Given the description of an element on the screen output the (x, y) to click on. 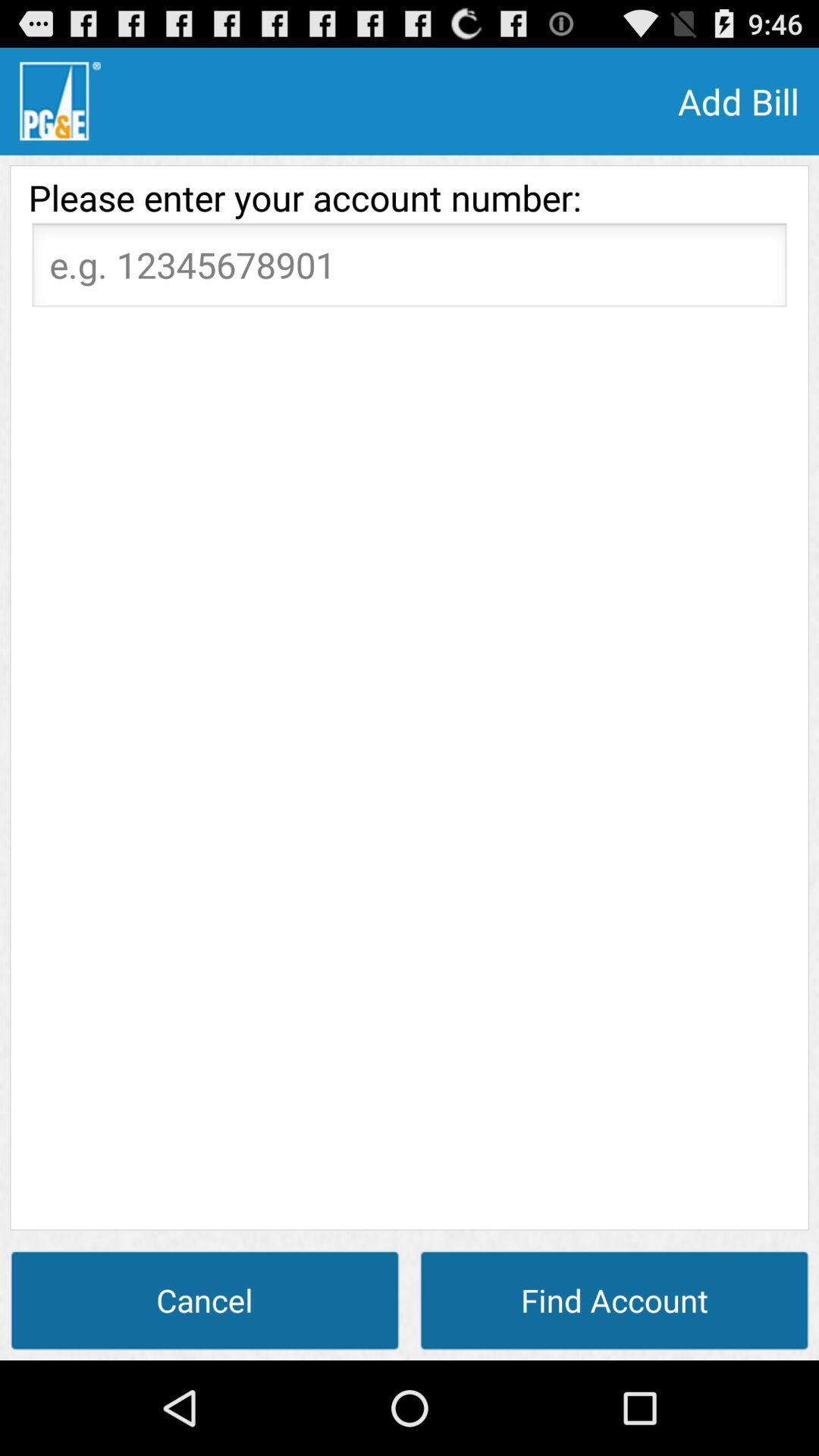
choose the cancel (204, 1300)
